Given the description of an element on the screen output the (x, y) to click on. 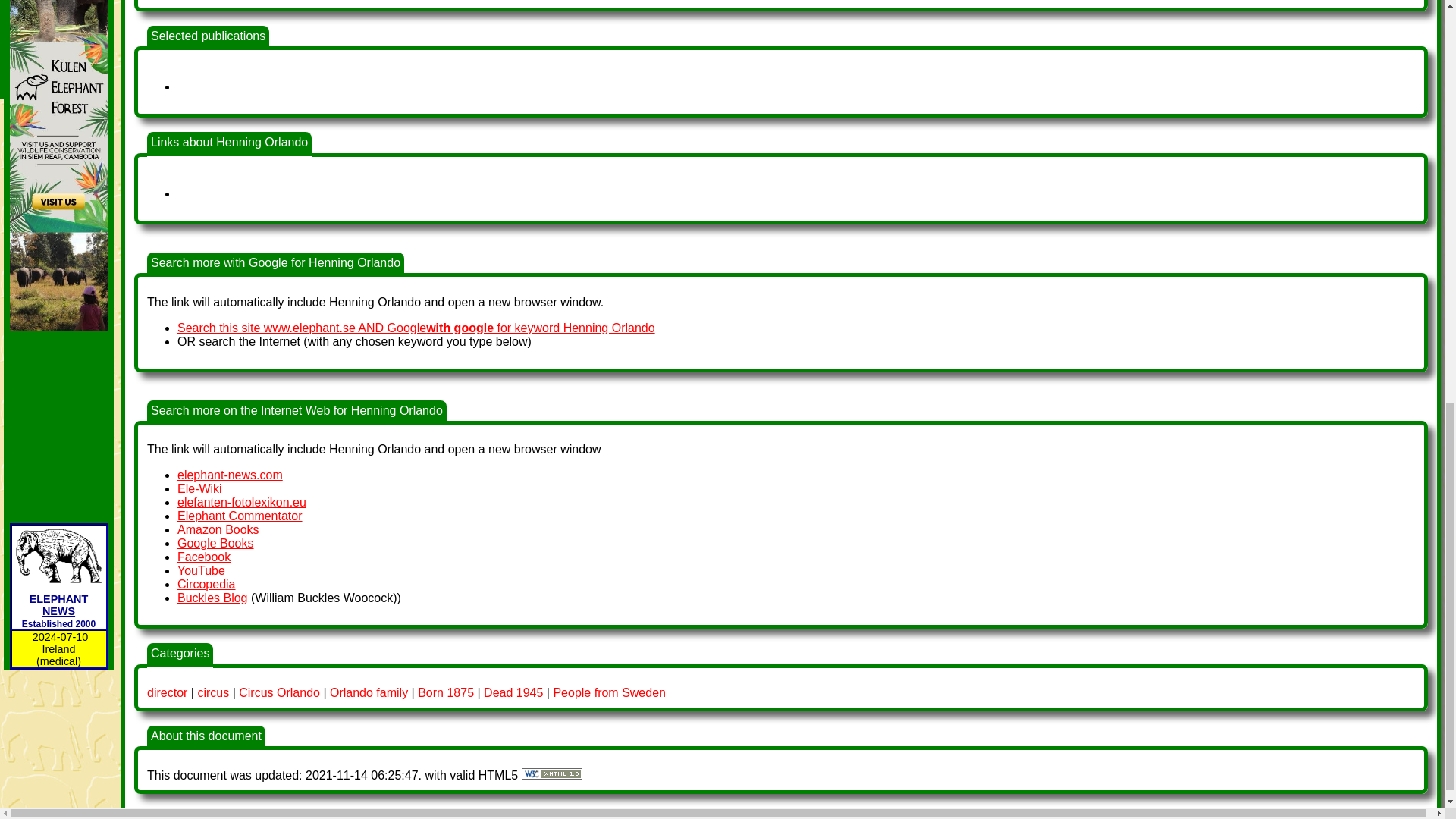
elephant-news.com (229, 474)
Ele-Wiki (199, 488)
Google Books (215, 543)
Elephant Commentator (239, 515)
Facebook (203, 556)
Amazon Books (218, 529)
elefanten-fotolexikon.eu (241, 502)
